Given the description of an element on the screen output the (x, y) to click on. 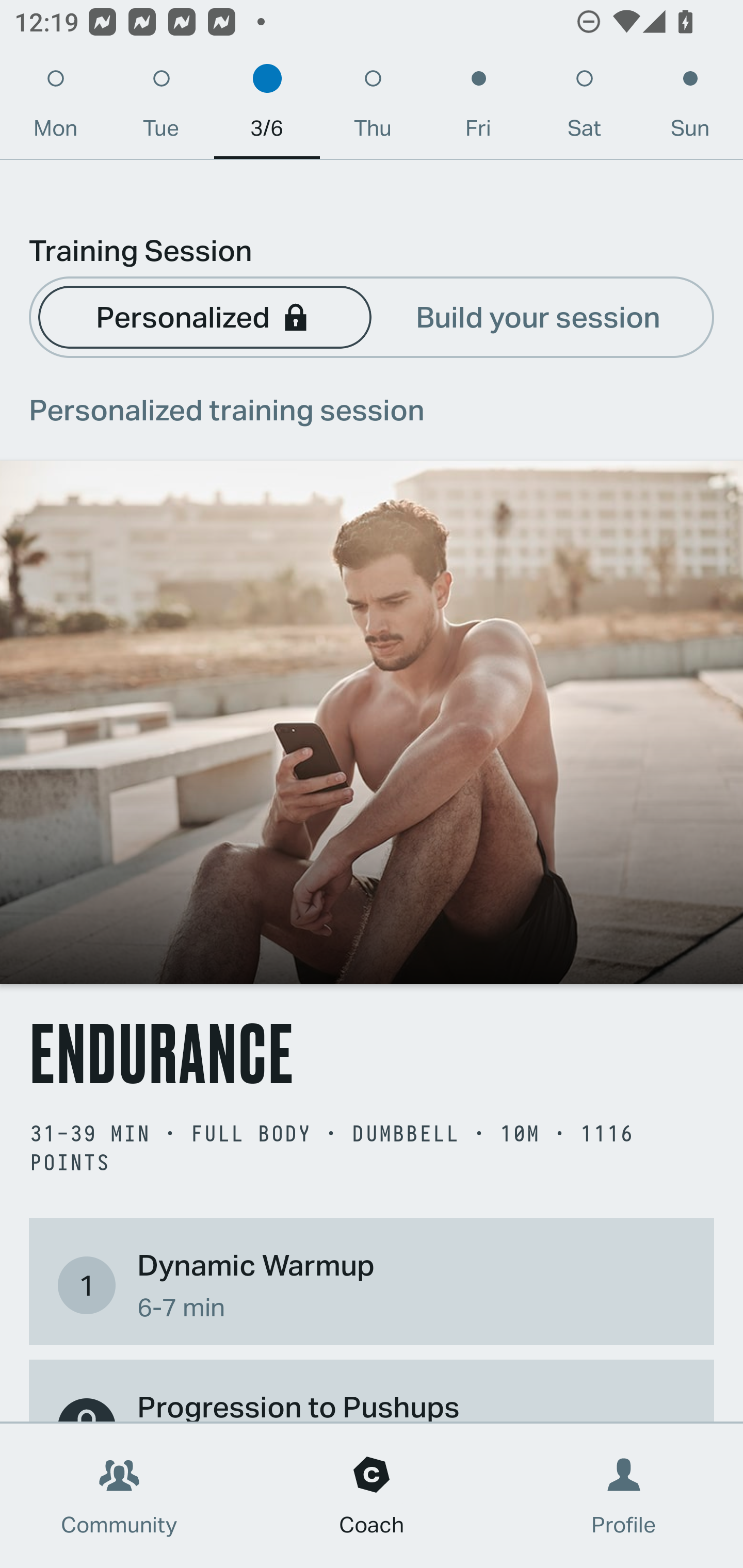
Mon (55, 108)
Tue (160, 108)
3/6 (266, 108)
Thu (372, 108)
Fri (478, 108)
Sat (584, 108)
Sun (690, 108)
Personalized (204, 315)
Build your session (538, 315)
1 Dynamic Warmup 6-7 min (371, 1284)
Community (119, 1495)
Profile (624, 1495)
